Given the description of an element on the screen output the (x, y) to click on. 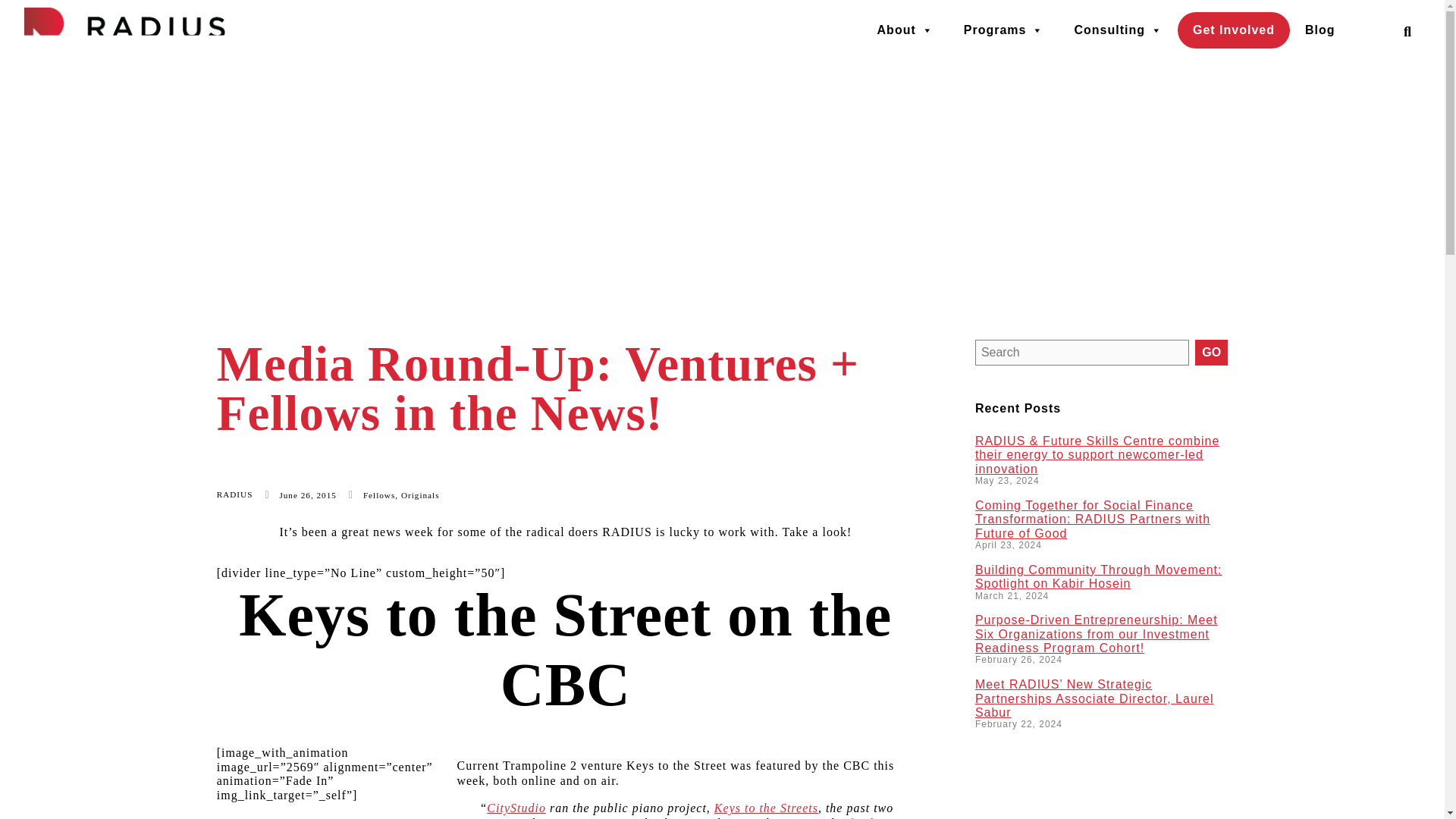
June 26, 2015 (300, 494)
Originals (420, 494)
Go (1211, 352)
Keys to the Streets (766, 807)
RADIUS (234, 494)
Consulting (1117, 30)
Programs (1004, 30)
About (905, 30)
Get Involved (1233, 30)
Blog (1320, 30)
